Given the description of an element on the screen output the (x, y) to click on. 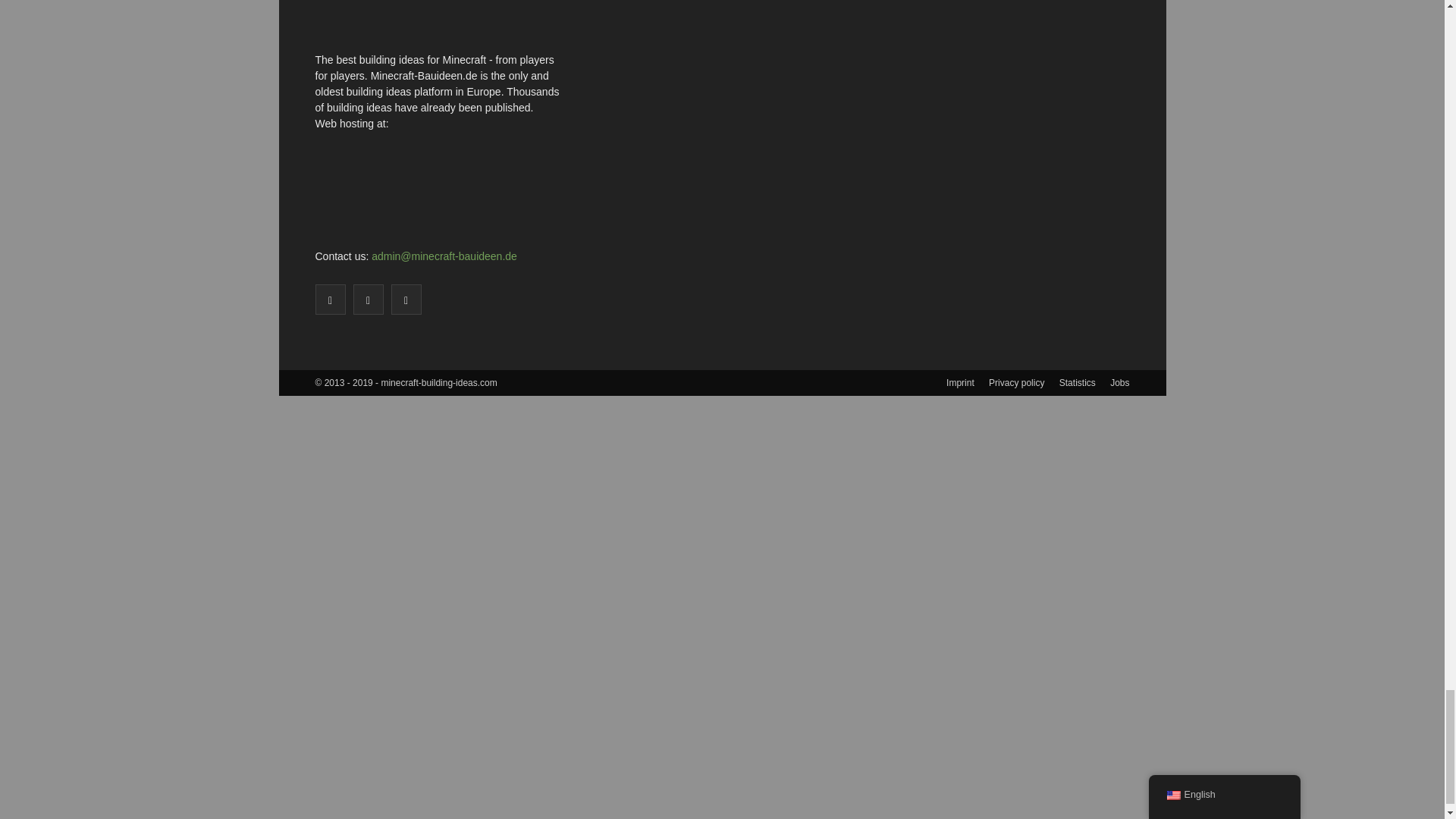
Twitter (368, 299)
Facebook (330, 299)
Youtube (406, 299)
